Given the description of an element on the screen output the (x, y) to click on. 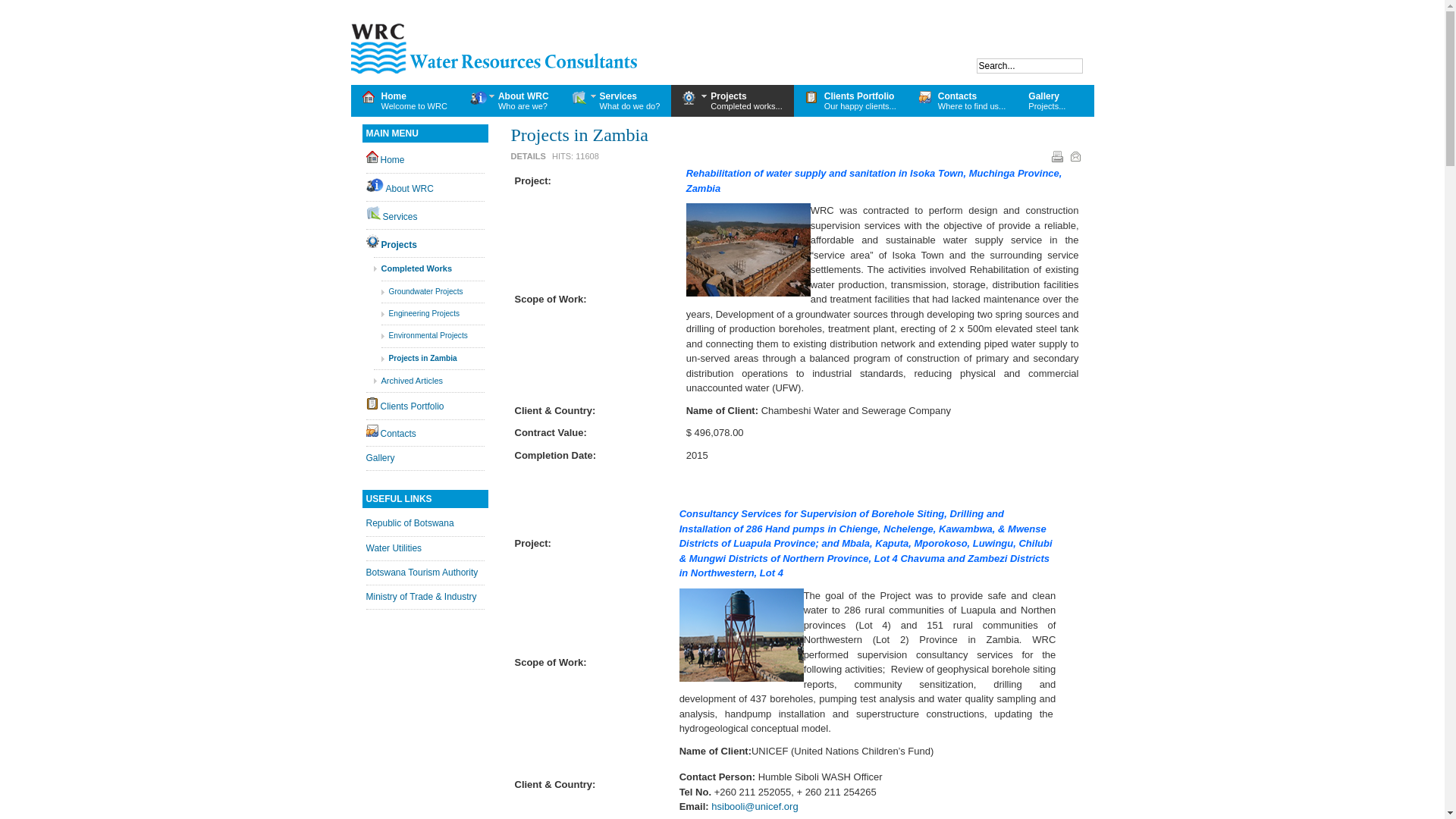
Ministry of Trade & Industry Element type: text (424, 596)
Water Resources Consultants Element type: hover (494, 47)
Gallery
Projects... Element type: text (1046, 100)
Home
Welcome to WRC Element type: text (404, 100)
Water Utilities Element type: text (424, 548)
Republic of Botswana Element type: text (424, 523)
Gallery Element type: text (424, 458)
Email Element type: text (1075, 156)
 Print  Element type: text (1057, 156)
Clients Portfolio Element type: text (424, 405)
Projects
Completed works... Element type: text (732, 100)
Engineering Projects Element type: text (431, 313)
Groundwater Projects Element type: text (431, 291)
Completed Works Element type: text (428, 268)
Archived Articles Element type: text (428, 381)
Projects Element type: text (424, 243)
About WRC
Who are we? Element type: text (509, 100)
Environmental Projects Element type: text (431, 335)
Services
What do we do? Element type: text (615, 100)
hsibooli@unicef.org Element type: text (754, 806)
Projects in Zambia Element type: text (579, 134)
Home Element type: text (424, 159)
Projects in Zambia Element type: text (431, 358)
About WRC Element type: text (424, 186)
Clients Portfolio
Our happy clients... Element type: text (850, 100)
Contacts
Where to find us... Element type: text (962, 100)
Switch to Joomla 1.5 Element type: text (34, 37)
Contacts Element type: text (424, 432)
Botswana Tourism Authority Element type: text (424, 572)
Services Element type: text (424, 215)
